Given the description of an element on the screen output the (x, y) to click on. 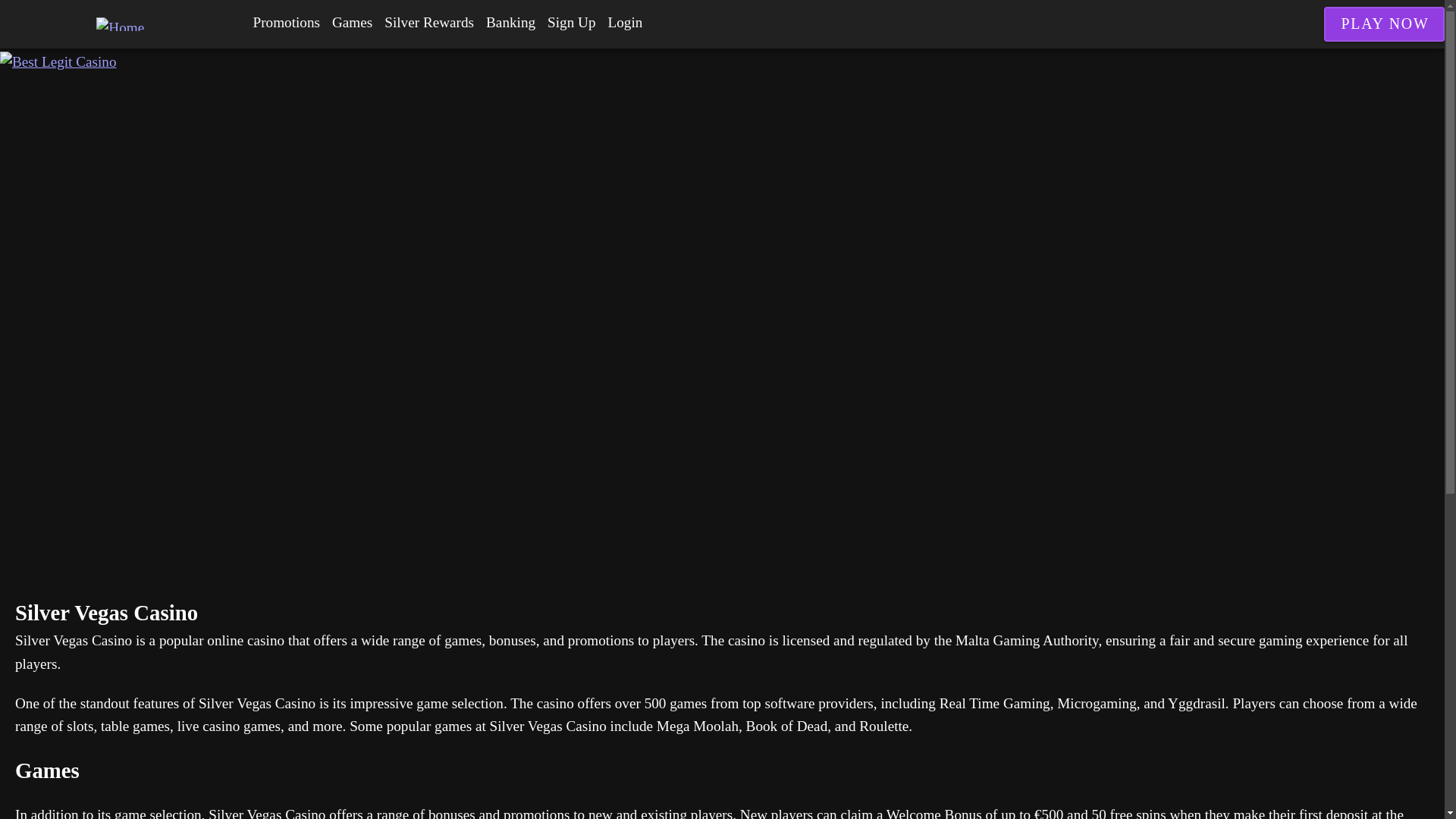
Silver Rewards (429, 22)
Sign Up (571, 22)
Banking (510, 22)
Login (625, 22)
Games (352, 22)
Promotions (286, 22)
